Given the description of an element on the screen output the (x, y) to click on. 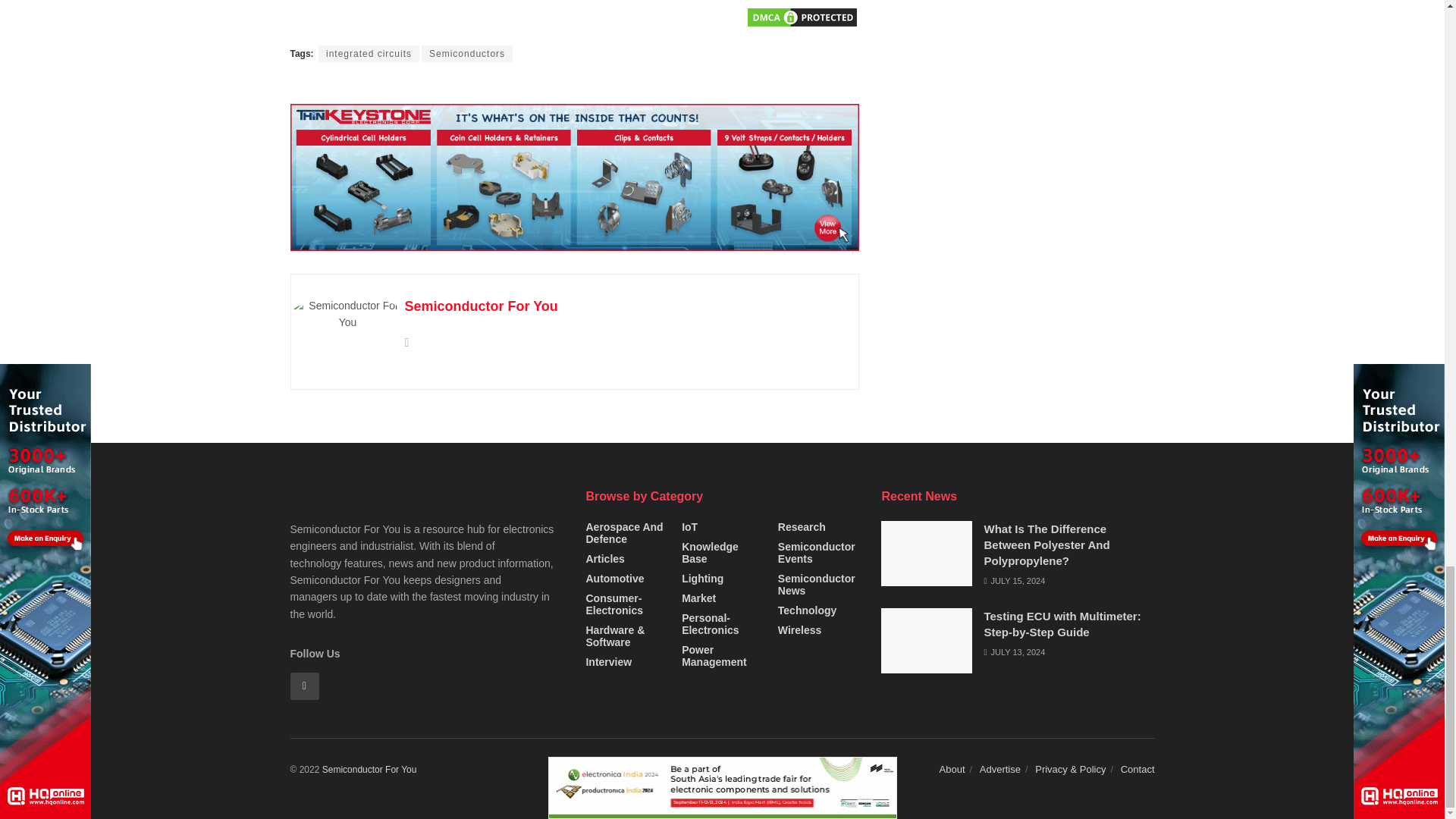
Content Protection by DMCA.com (801, 16)
